Given the description of an element on the screen output the (x, y) to click on. 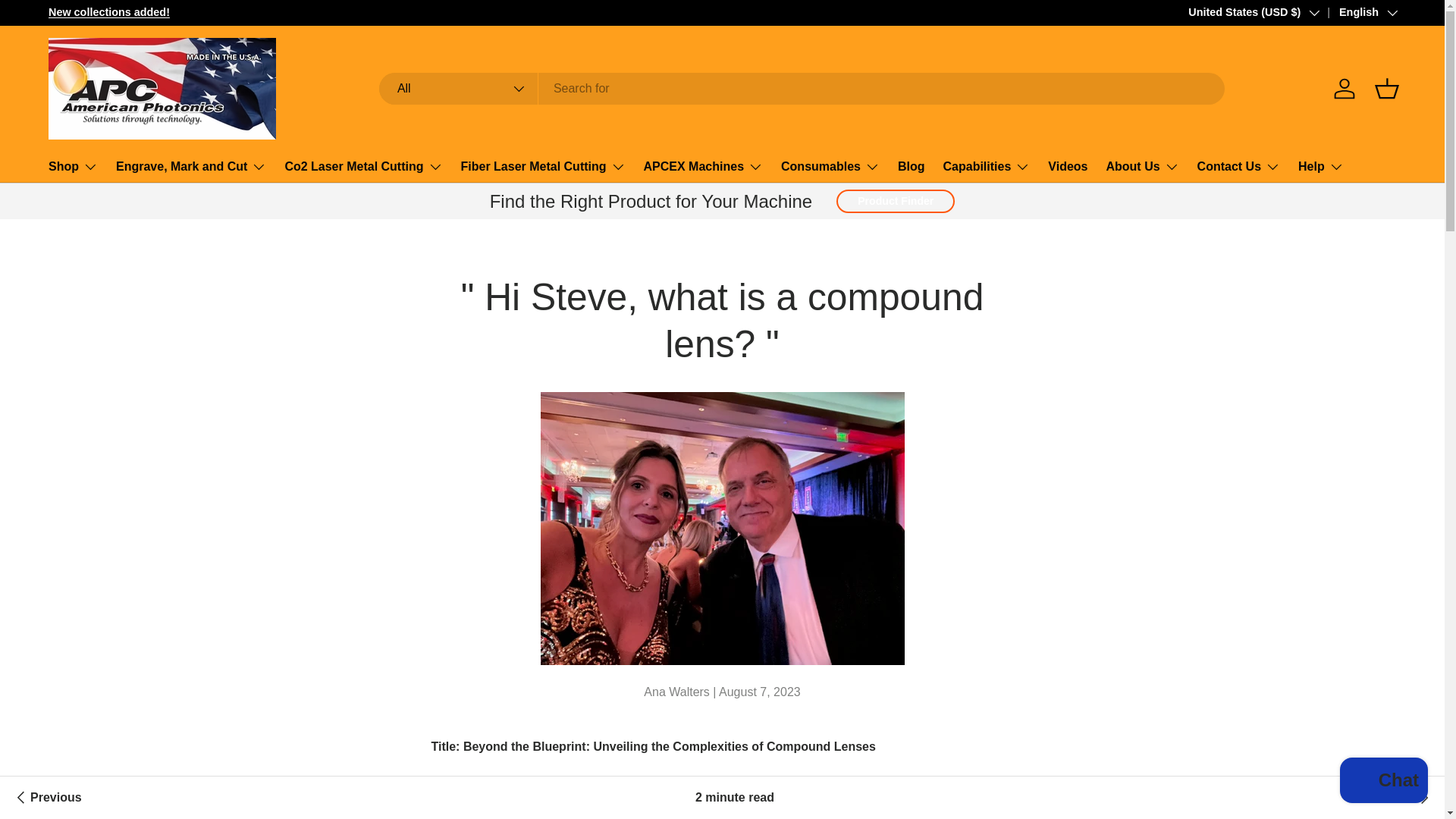
Basket (1386, 88)
Shopify online store chat (1383, 781)
Diversification - General Products (109, 11)
English (1356, 12)
" Hi Steve, how important is alignment ? " (1409, 797)
Skip to content (69, 21)
New collections added! (109, 11)
" Hi Steve, ZnSe Lenses or GaAs Lenses?" (46, 797)
Shop (72, 166)
All (458, 88)
